Given the description of an element on the screen output the (x, y) to click on. 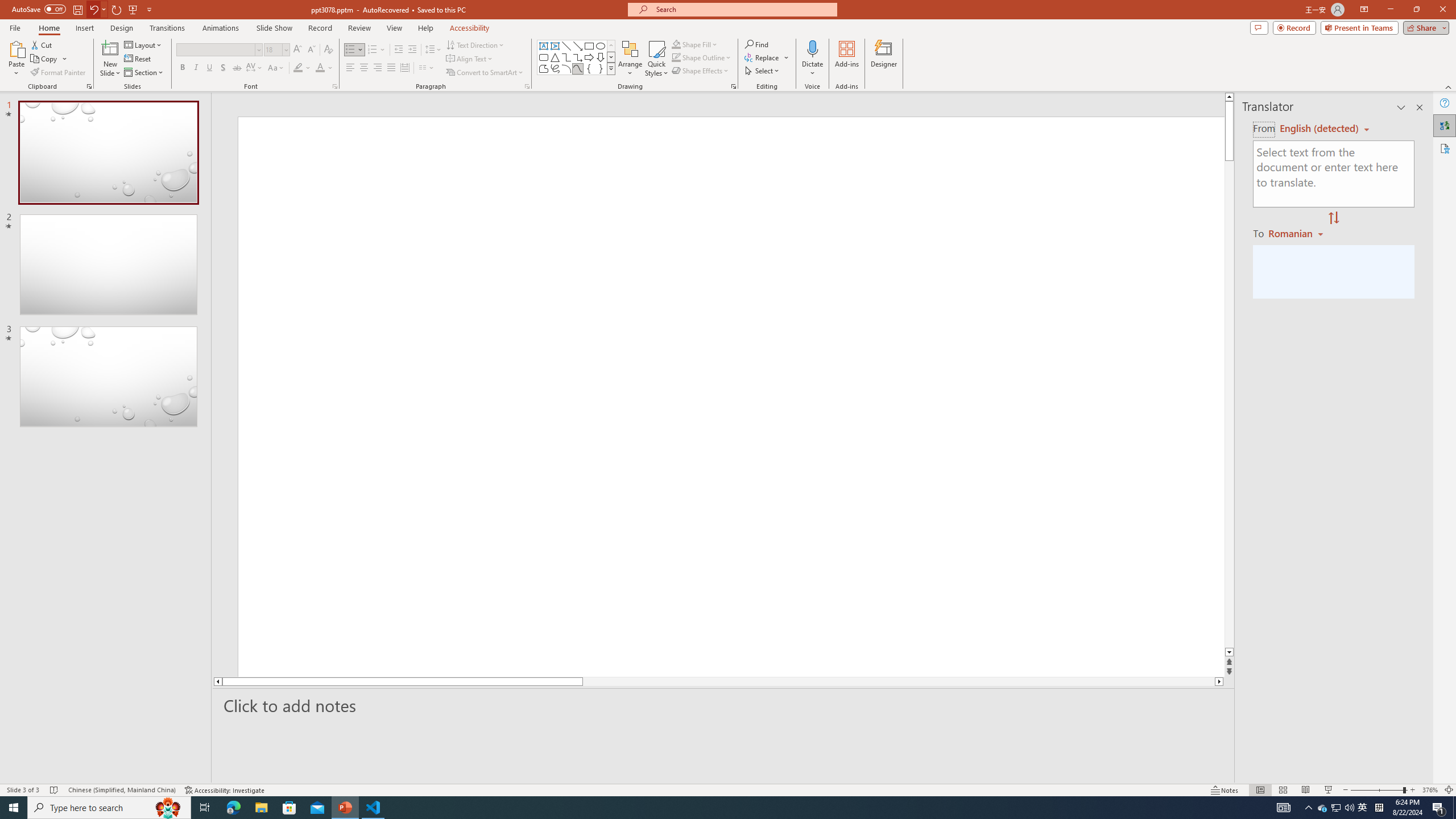
Zoom 376% (1430, 790)
